Given the description of an element on the screen output the (x, y) to click on. 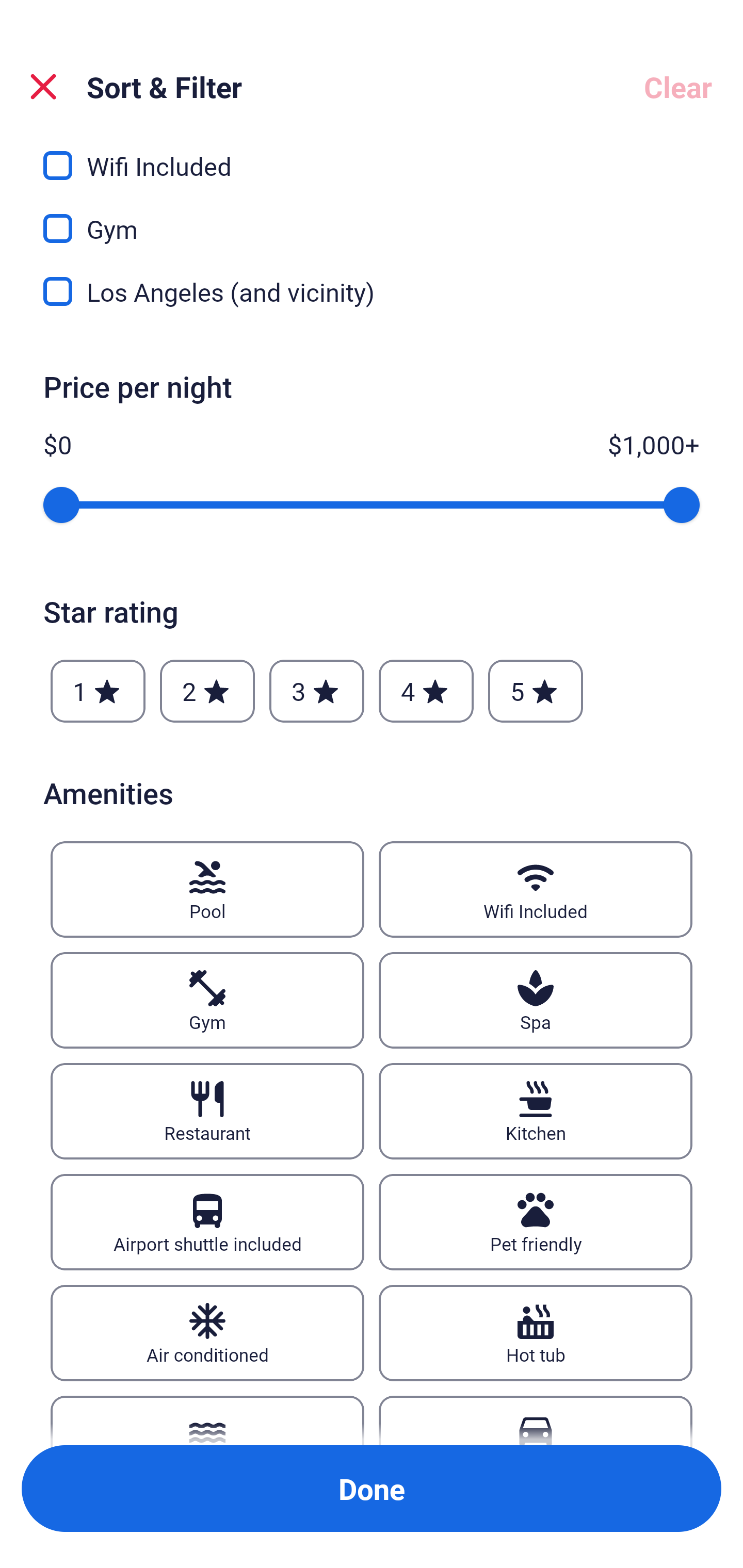
Close Sort and Filter (43, 86)
Clear (677, 86)
Wifi Included, Wifi Included (371, 157)
Gym, Gym (371, 217)
1 (97, 690)
2 (206, 690)
3 (316, 690)
4 (426, 690)
5 (535, 690)
Pool (207, 889)
Wifi Included (535, 889)
Gym (207, 999)
Spa (535, 999)
Restaurant (207, 1110)
Kitchen (535, 1110)
Airport shuttle included (207, 1222)
Pet friendly (535, 1222)
Air conditioned (207, 1332)
Hot tub (535, 1332)
Apply and close Sort and Filter Done (371, 1488)
